Given the description of an element on the screen output the (x, y) to click on. 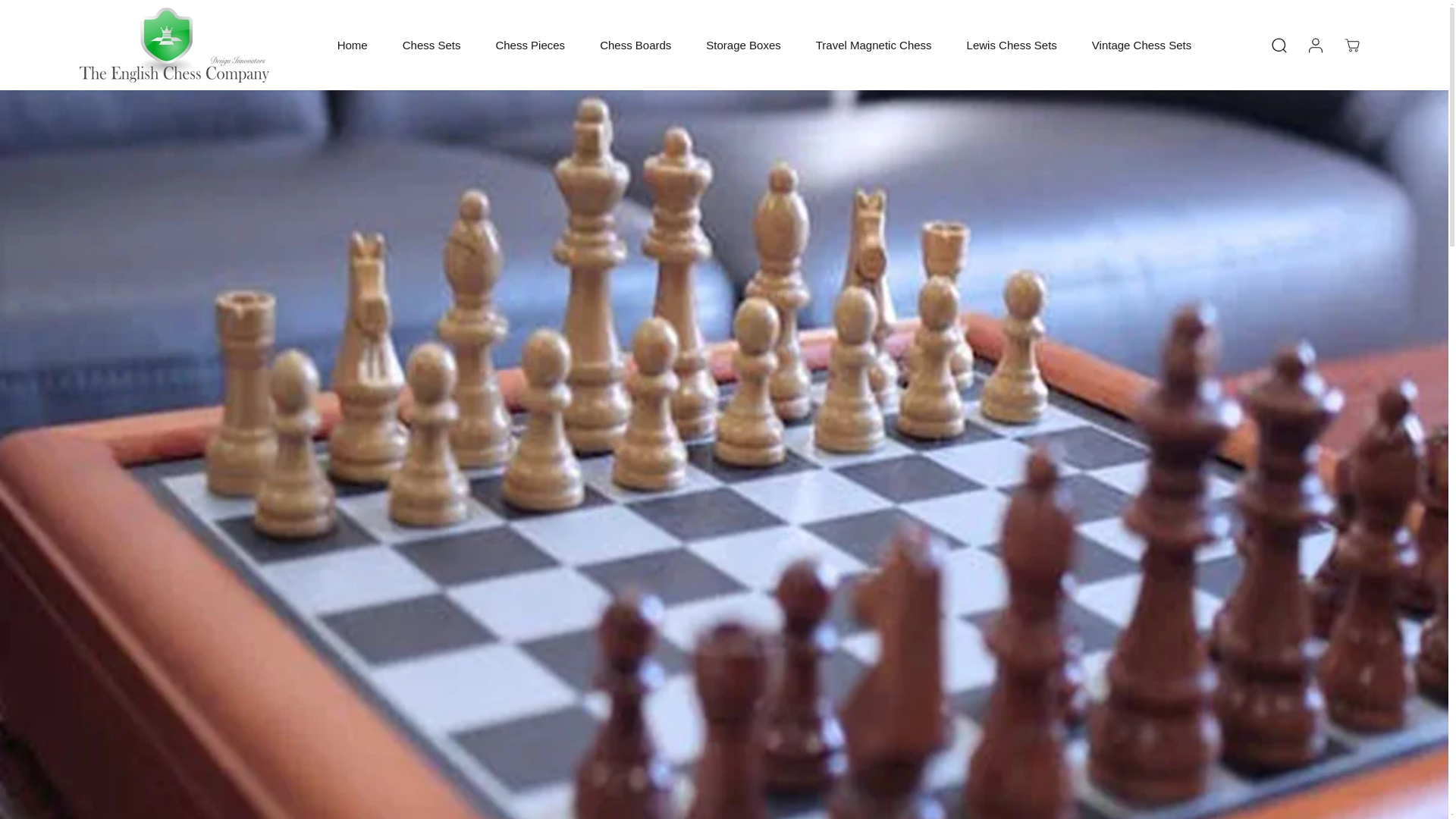
SKIP TO CONTENT (60, 18)
Cart (1351, 45)
Search (1278, 45)
Log in (1315, 45)
